Given the description of an element on the screen output the (x, y) to click on. 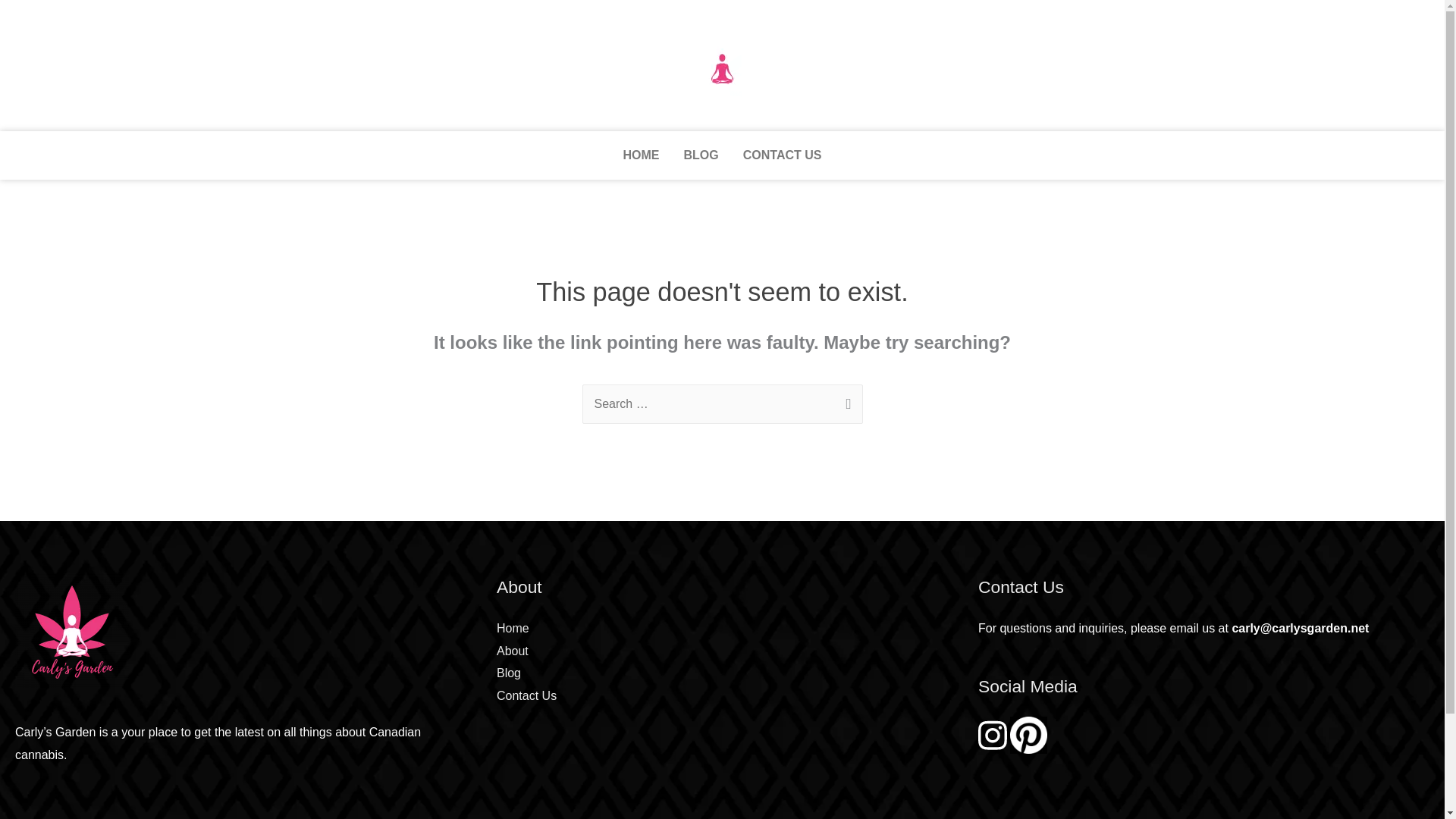
About (512, 650)
Home (512, 627)
HOME (641, 155)
Contact Us (526, 695)
Blog (508, 672)
CONTACT US (782, 155)
BLOG (700, 155)
